Given the description of an element on the screen output the (x, y) to click on. 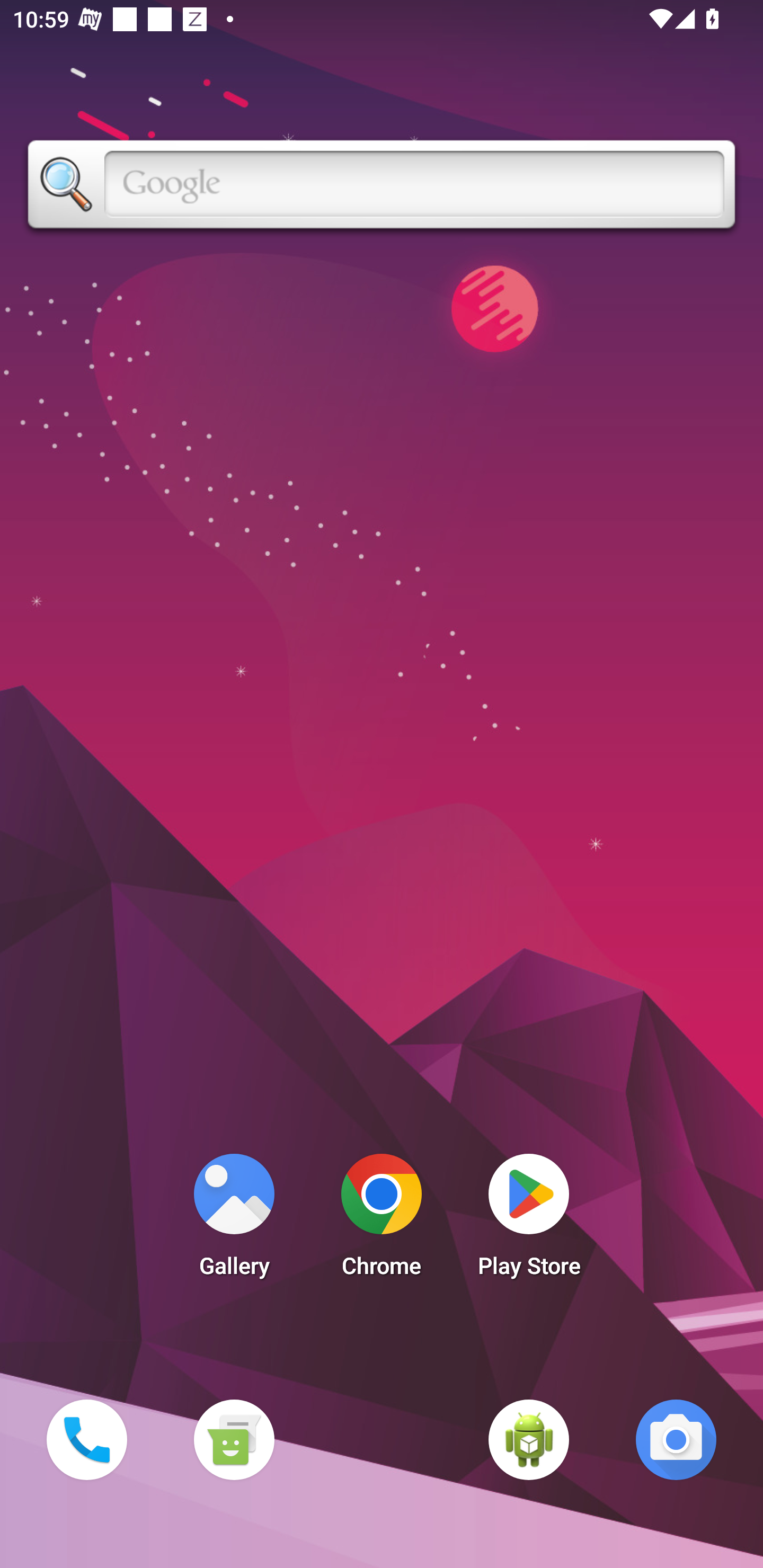
Gallery (233, 1220)
Chrome (381, 1220)
Play Store (528, 1220)
Phone (86, 1439)
Messaging (233, 1439)
WebView Browser Tester (528, 1439)
Camera (676, 1439)
